Given the description of an element on the screen output the (x, y) to click on. 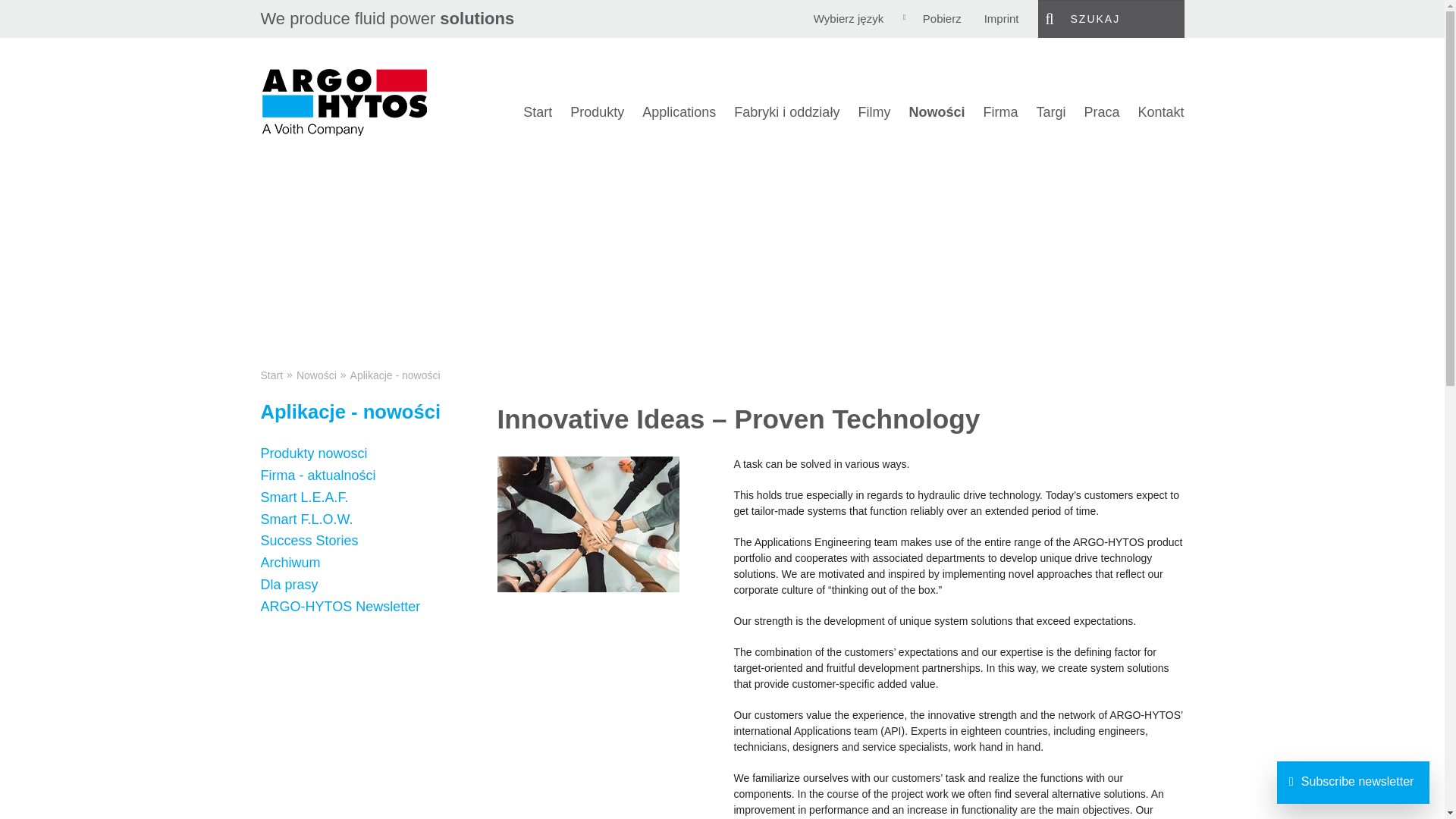
Home (536, 112)
ARGO-HYTOS fluid power solutions (344, 101)
Submit (1052, 18)
Pobierz (941, 18)
Start (536, 112)
SZUKAJ (1109, 18)
Imprint (1001, 18)
Submit (1052, 18)
Produkty (597, 112)
Pobierz (941, 18)
Submit (1052, 18)
SZUKAJ (1109, 18)
Produkty (597, 112)
Imprint (1001, 18)
